Given the description of an element on the screen output the (x, y) to click on. 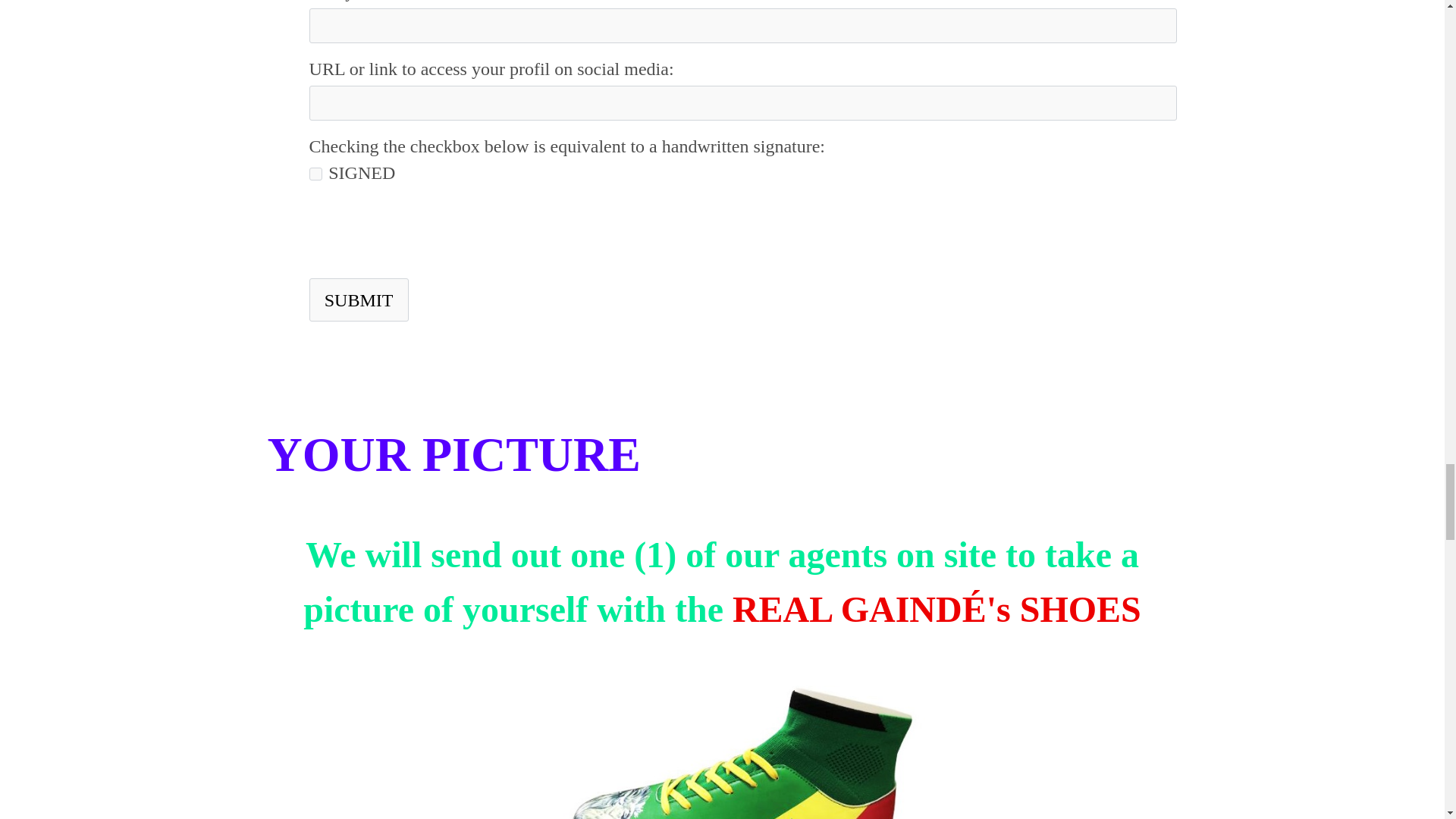
SUBMIT (358, 299)
